Given the description of an element on the screen output the (x, y) to click on. 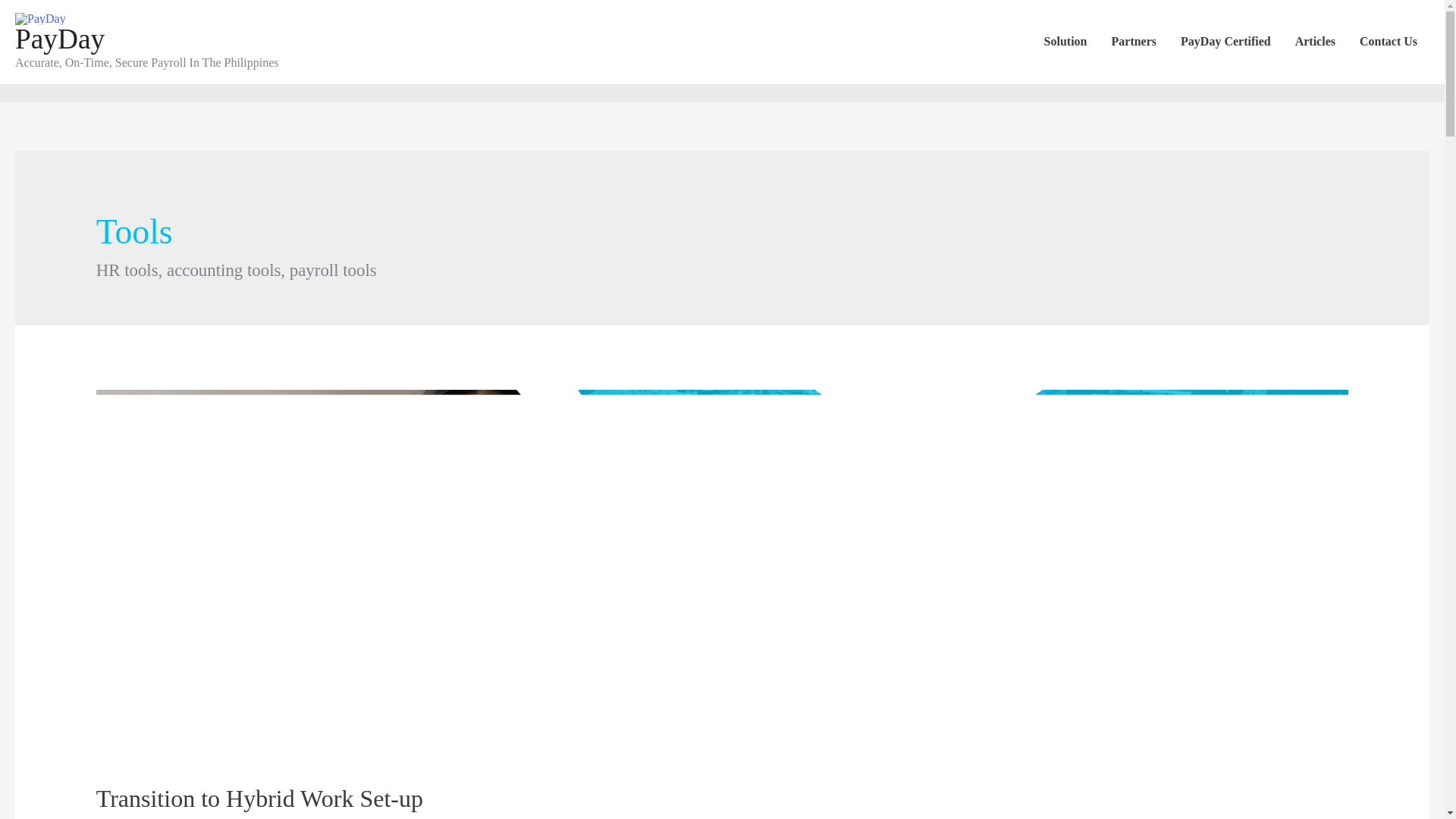
Solution (1065, 41)
PayDay (59, 39)
Partners (1134, 41)
Contact Us (1388, 41)
Transition to Hybrid Work Set-up (259, 798)
Articles (1315, 41)
PayDay Certified (1225, 41)
